Given the description of an element on the screen output the (x, y) to click on. 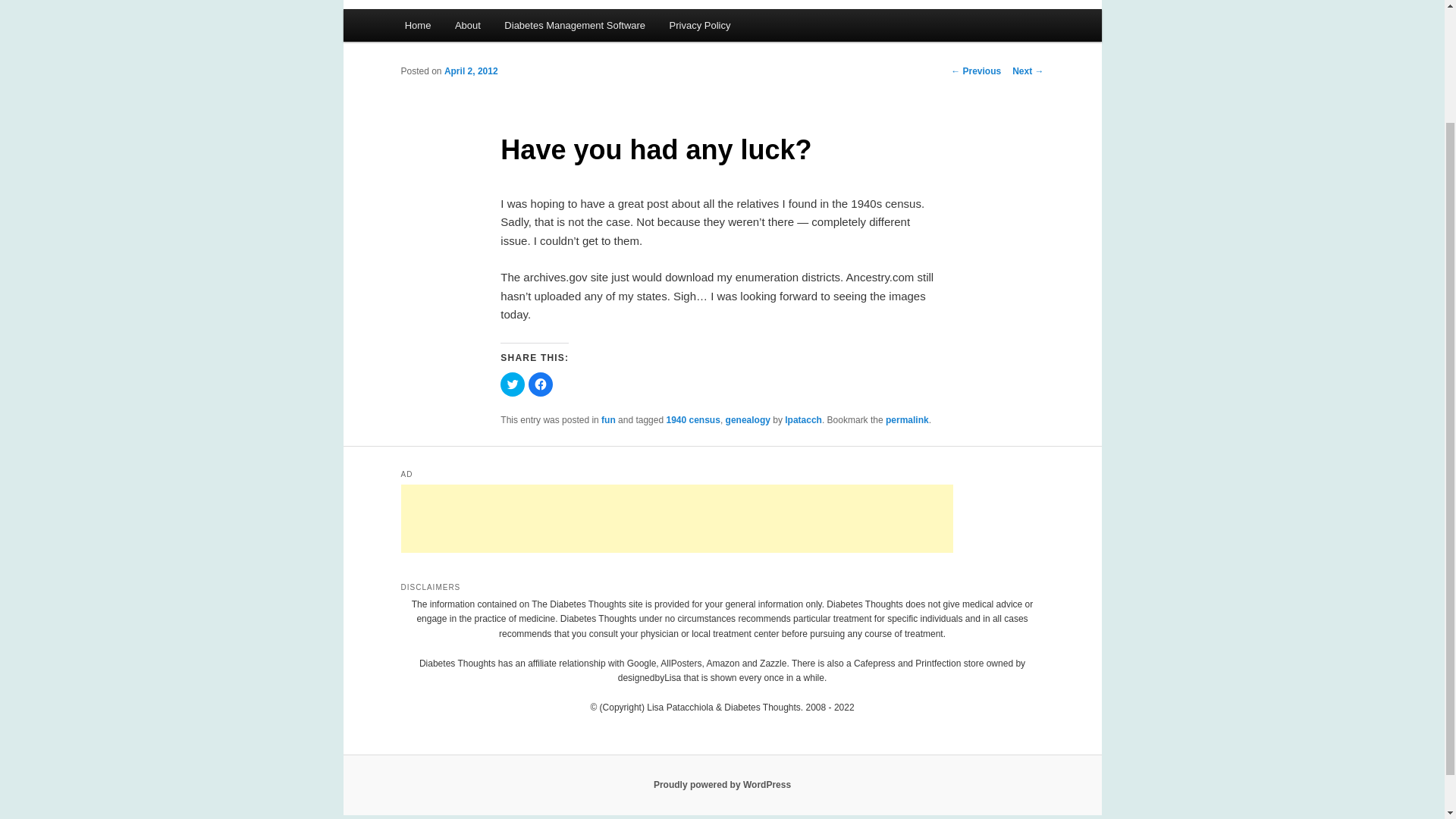
About (467, 25)
genealogy (747, 419)
10:09 pm (470, 71)
1940 census (692, 419)
Semantic Personal Publishing Platform (721, 784)
Proudly powered by WordPress (721, 784)
Home (417, 25)
Diabetes Management Software (575, 25)
Permalink to Have you had any luck? (906, 419)
Advertisement (676, 518)
April 2, 2012 (470, 71)
Privacy Policy (700, 25)
permalink (906, 419)
fun (608, 419)
lpatacch (803, 419)
